Given the description of an element on the screen output the (x, y) to click on. 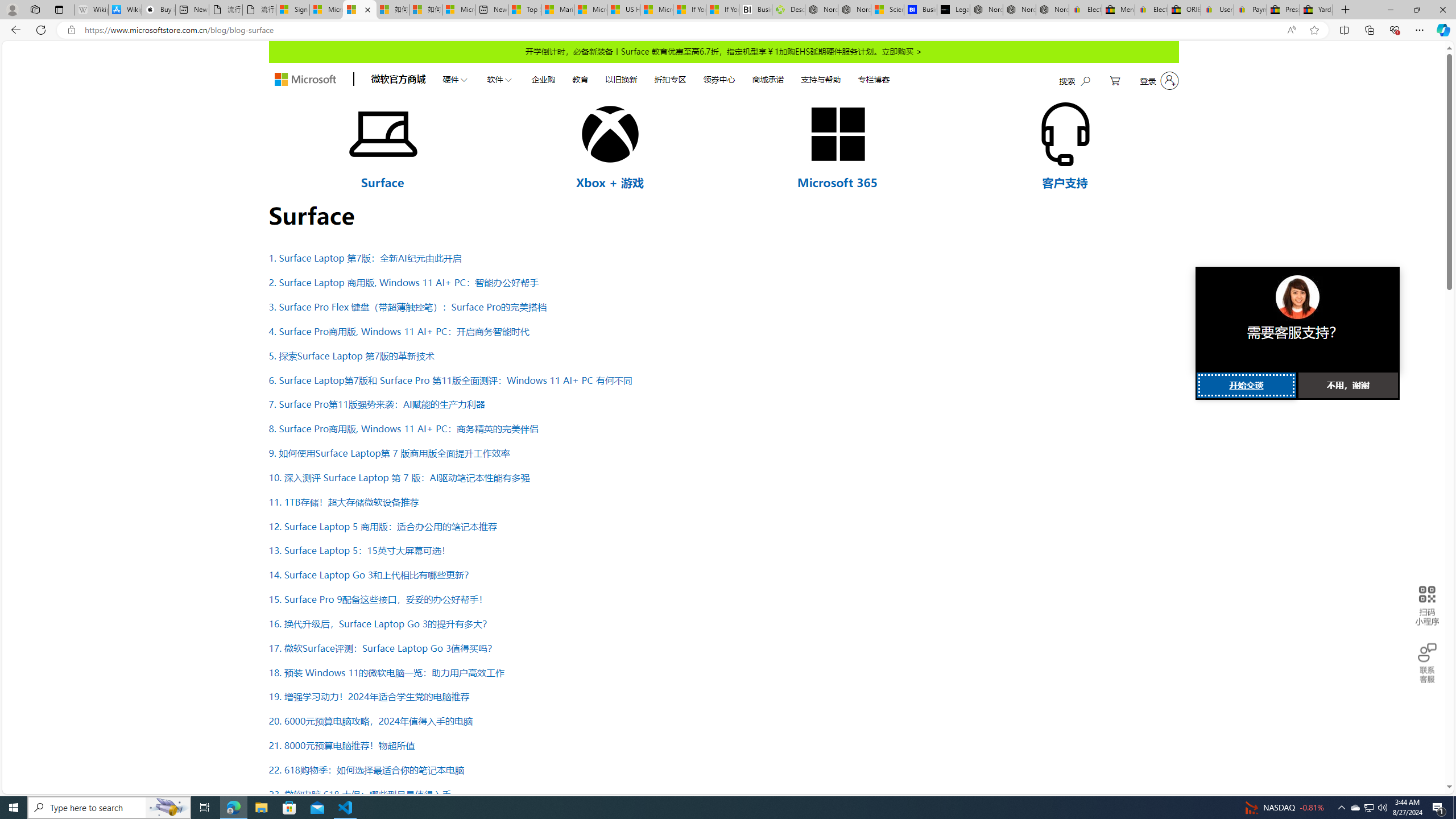
AutomationID: autoNav (665, 78)
Microsoft account | Account Checkup (458, 9)
